Given the description of an element on the screen output the (x, y) to click on. 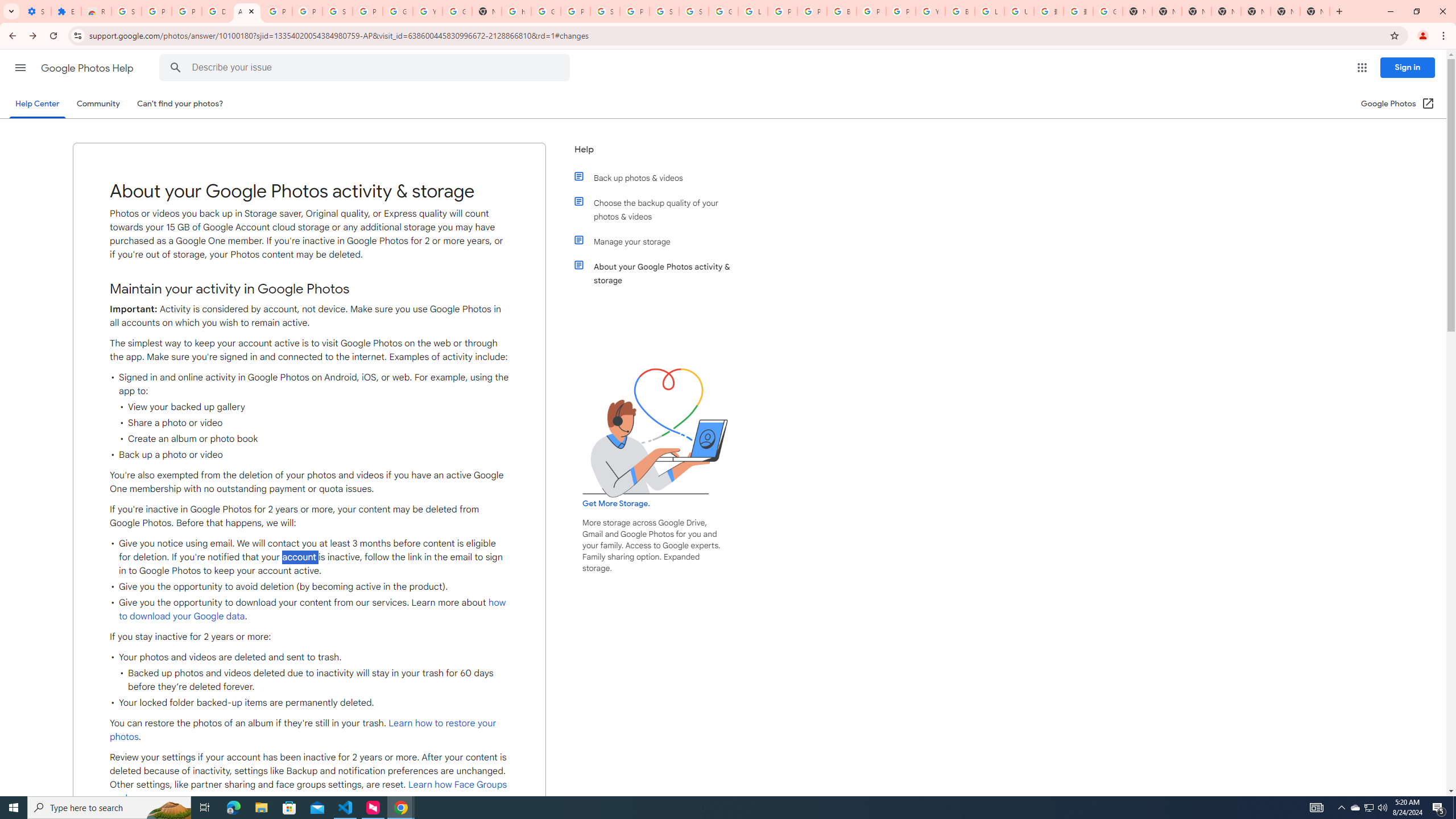
how to download your Google data (312, 609)
New Tab (1226, 11)
Google Account (397, 11)
Community (97, 103)
Settings - On startup (36, 11)
Back up photos & videos (661, 177)
Search Help Center (176, 67)
New Tab (1314, 11)
